Given the description of an element on the screen output the (x, y) to click on. 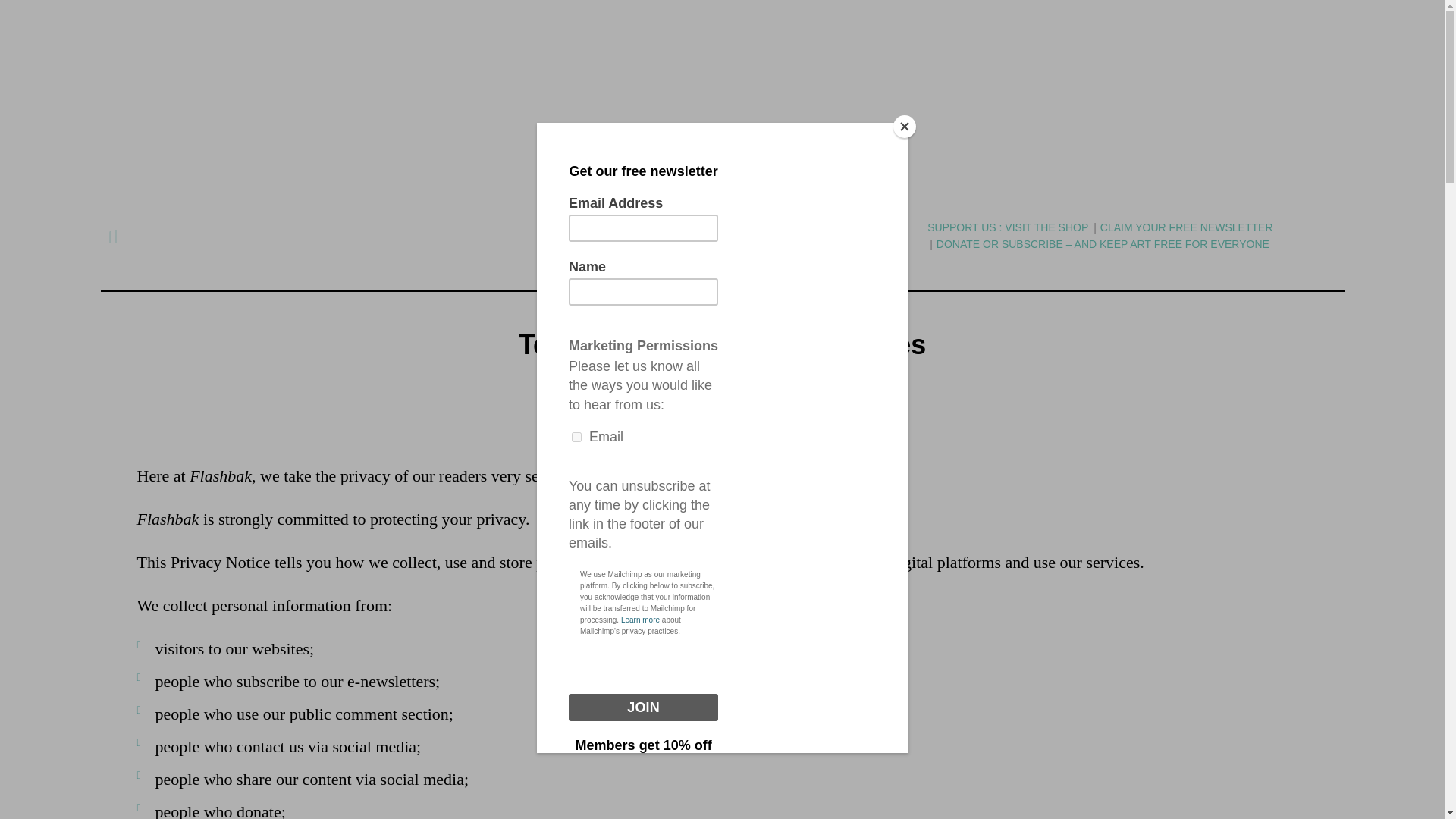
Flashbak (813, 561)
Flashbak, Everything Old Is New Again (721, 235)
CLAIM YOUR FREE NEWSLETTER (1186, 227)
SUPPORT US : VISIT THE SHOP (1007, 227)
